Given the description of an element on the screen output the (x, y) to click on. 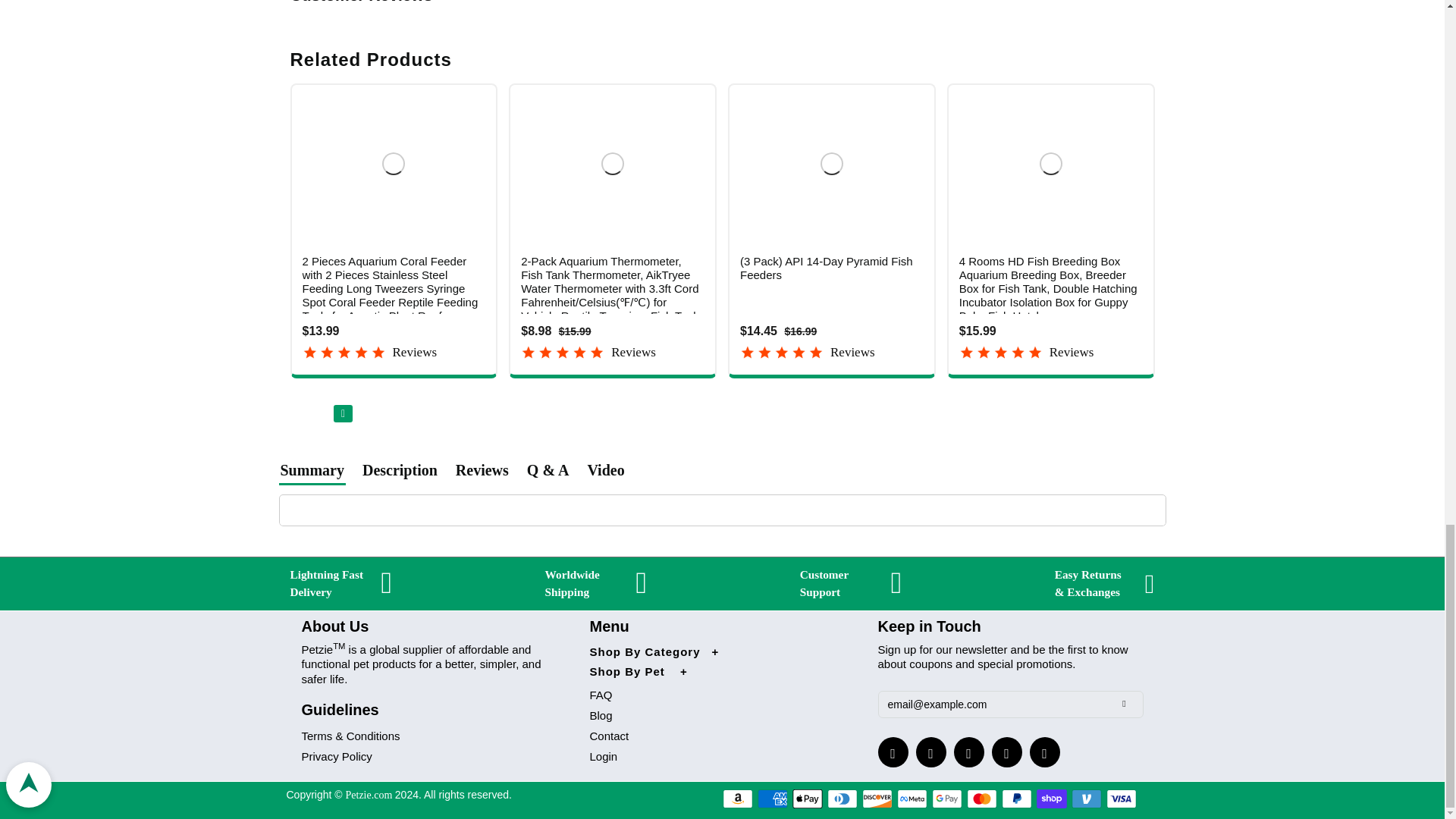
Apple Pay (807, 798)
Venmo (1086, 798)
Discover (876, 798)
Google Pay (946, 798)
Visa (1121, 798)
Mastercard (981, 798)
Shop Pay (1051, 798)
Amazon (737, 798)
Diners Club (842, 798)
PayPal (1016, 798)
Meta Pay (911, 798)
American Express (772, 798)
